Given the description of an element on the screen output the (x, y) to click on. 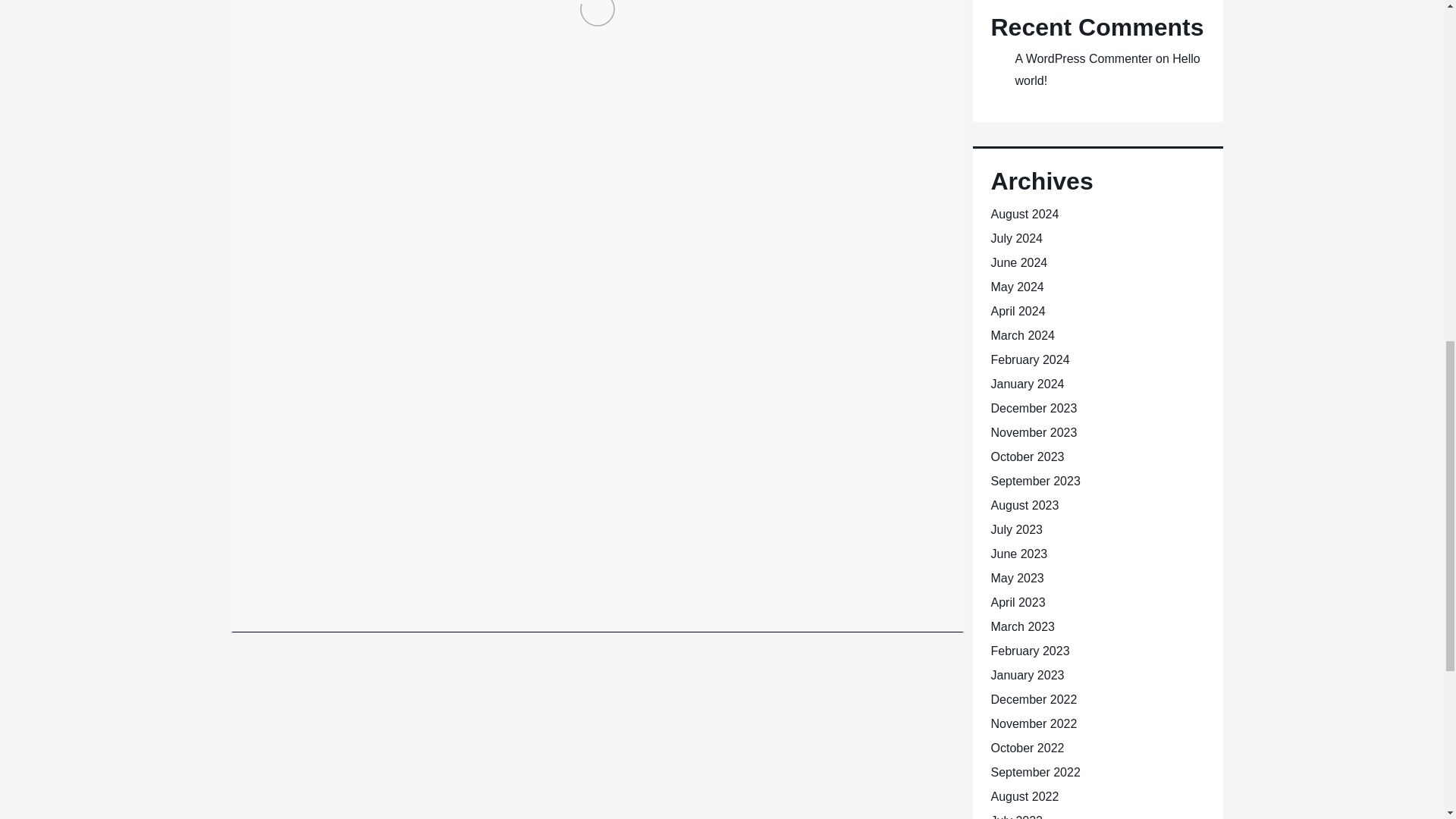
December 2023 (1033, 408)
togel (555, 597)
January 2024 (1027, 383)
February 2024 (1029, 359)
August 2023 (1024, 504)
A WordPress Commenter (1082, 58)
June 2024 (1018, 262)
March 2024 (1022, 335)
situs togel deposit pulsa tanpa potongan (704, 587)
Hello world! (1106, 69)
